Given the description of an element on the screen output the (x, y) to click on. 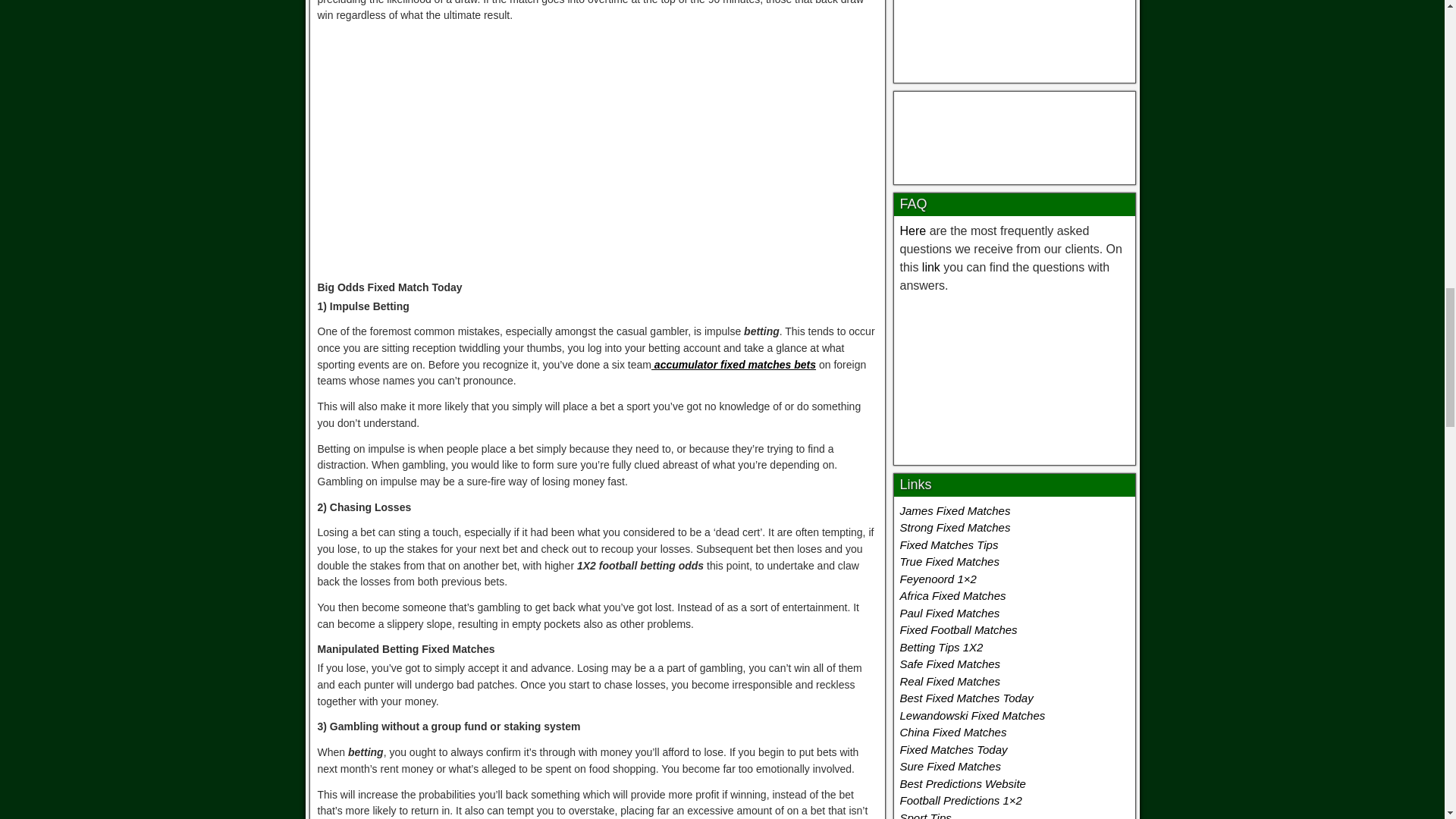
accumulator fixed matches bets (732, 364)
ticket big odds betting (1013, 376)
handicap h2h fixed matches betting (1014, 134)
Betting Free Tips 1x2 (597, 149)
winning tips predictions sources (1013, 33)
